Given the description of an element on the screen output the (x, y) to click on. 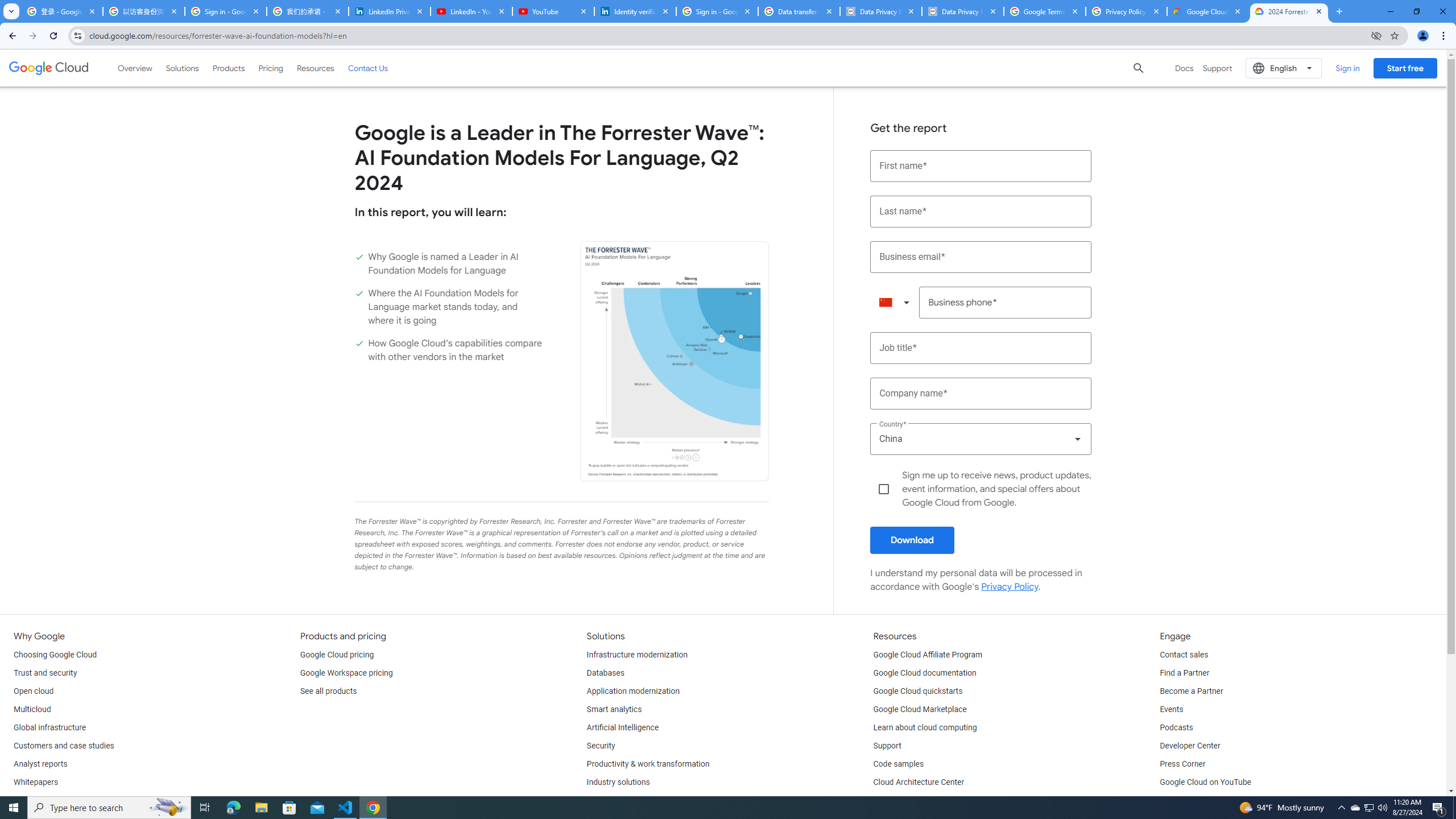
Google Cloud on YouTube (1204, 782)
Solutions (181, 67)
Google Cloud Tech on YouTube (1214, 800)
Blog (21, 800)
Productivity & work transformation (648, 764)
Google Cloud quickstarts (917, 691)
Products (228, 67)
Job title* (981, 347)
Infrastructure modernization (637, 655)
Press Corner (1181, 764)
Data Privacy Framework (963, 11)
